Given the description of an element on the screen output the (x, y) to click on. 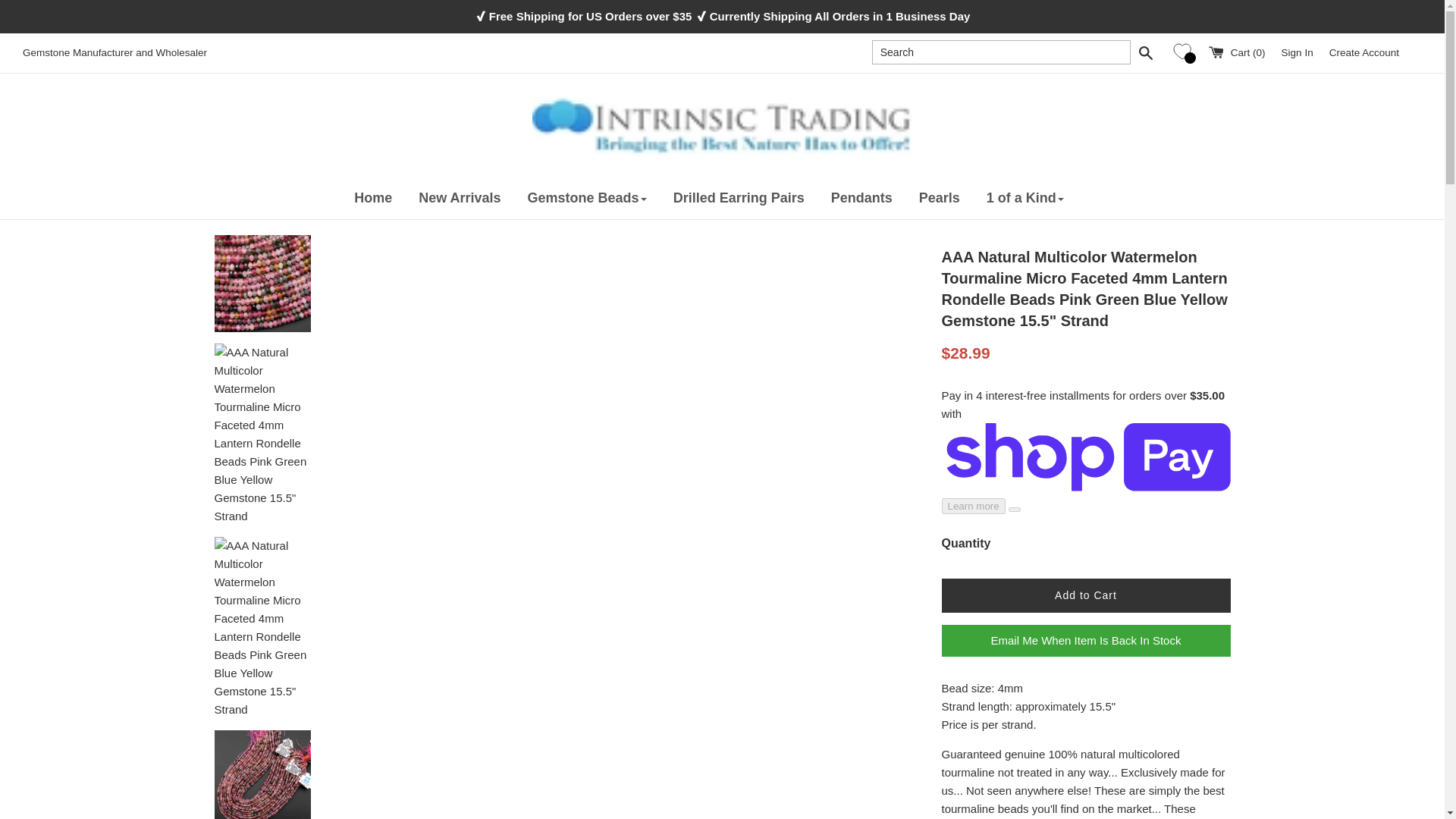
Wishlist (1184, 52)
New Arrivals (473, 199)
Gemstone Beads (599, 199)
Home (386, 199)
Create Account (1364, 52)
Sign In (1297, 52)
Search (1145, 52)
